Given the description of an element on the screen output the (x, y) to click on. 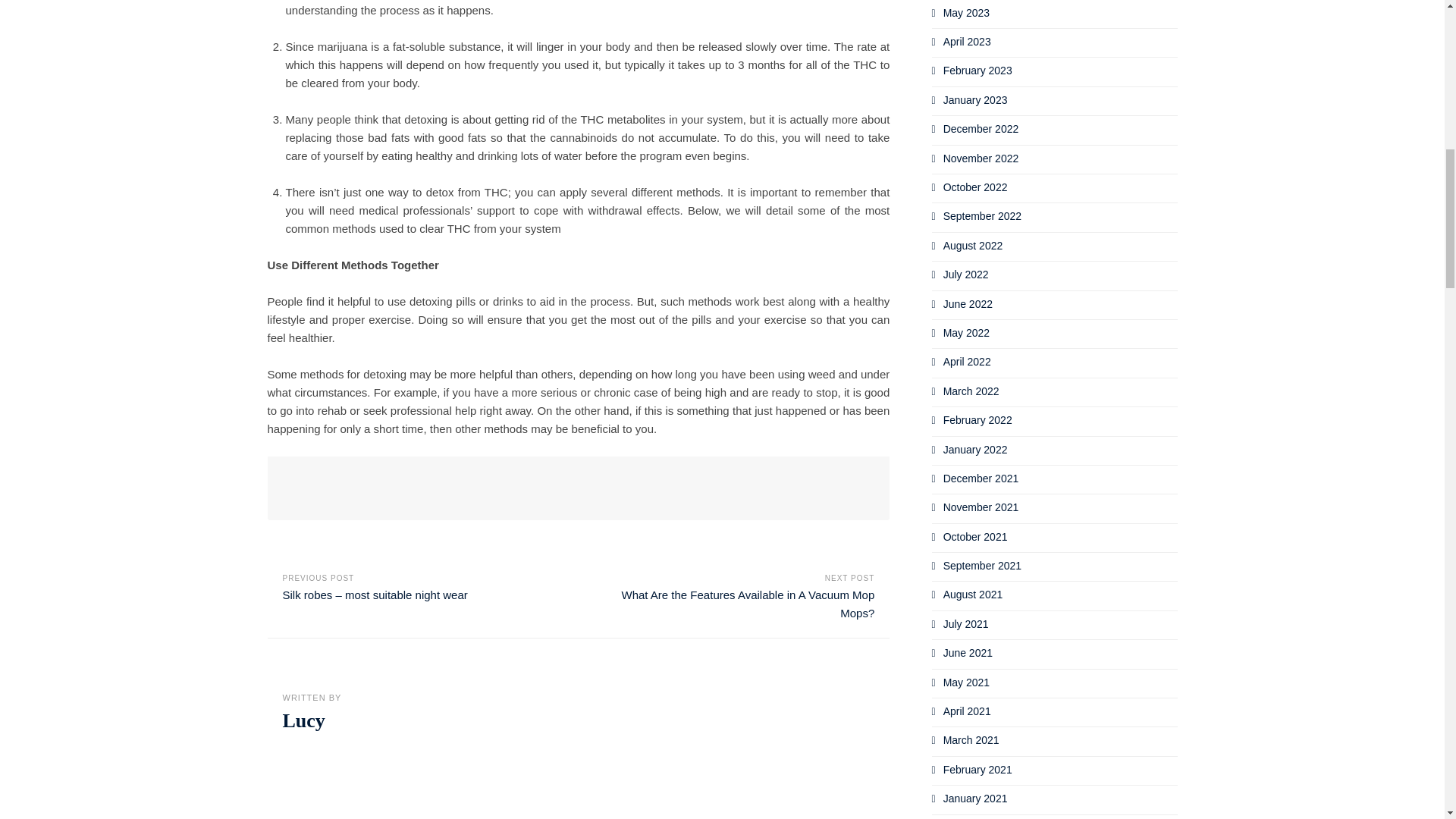
Lucy (303, 721)
What Are the Features Available in A Vacuum Mop Mops? (748, 603)
May 2023 (966, 12)
February 2023 (977, 70)
April 2023 (967, 41)
